Given the description of an element on the screen output the (x, y) to click on. 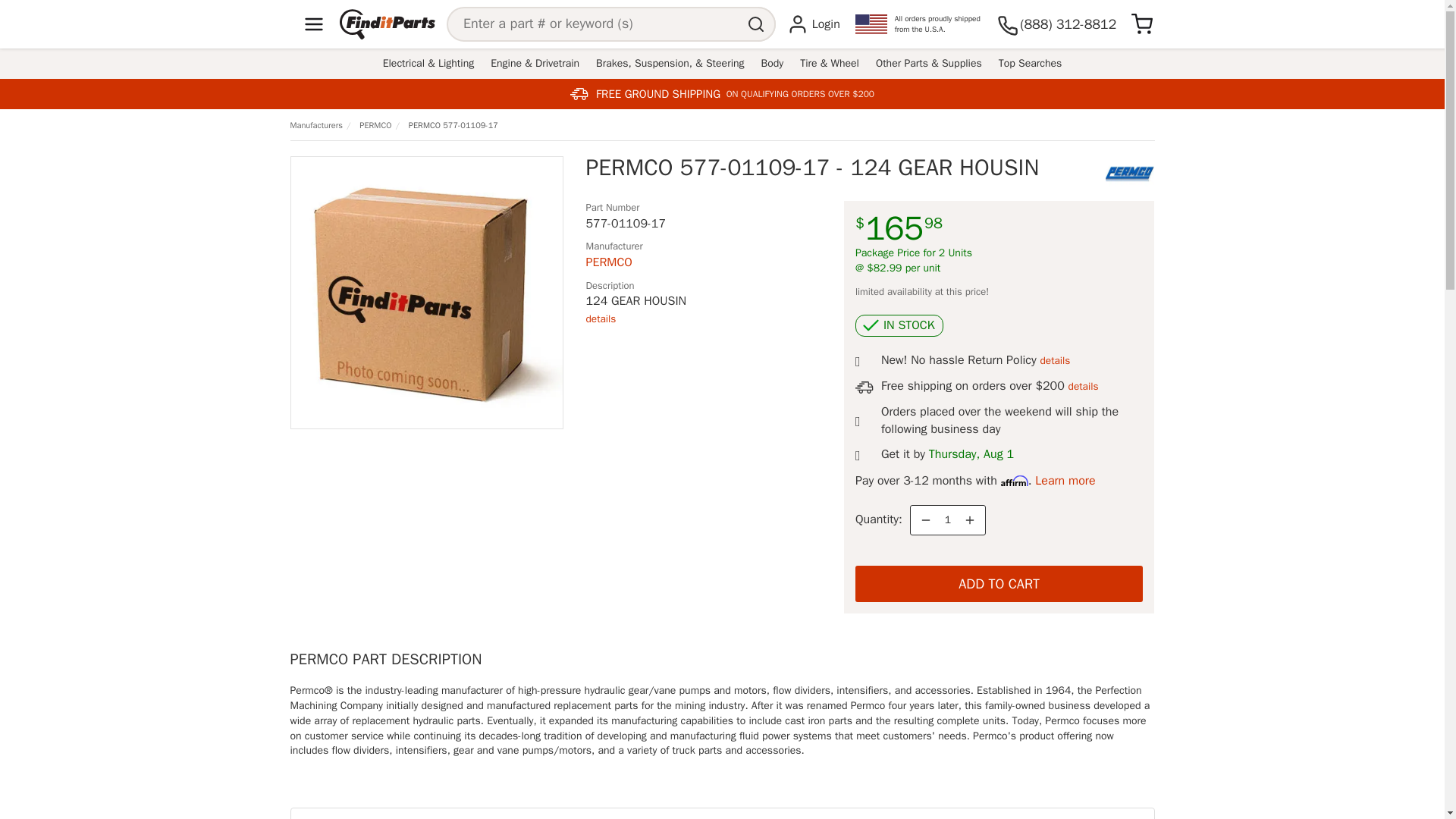
1 (947, 519)
Search (757, 23)
Search (757, 23)
Add to Cart (999, 583)
Top Searches (1030, 63)
Login (813, 24)
Body (772, 63)
View PERMCO Truck and Auto Parts List (608, 262)
Search (757, 23)
